Given the description of an element on the screen output the (x, y) to click on. 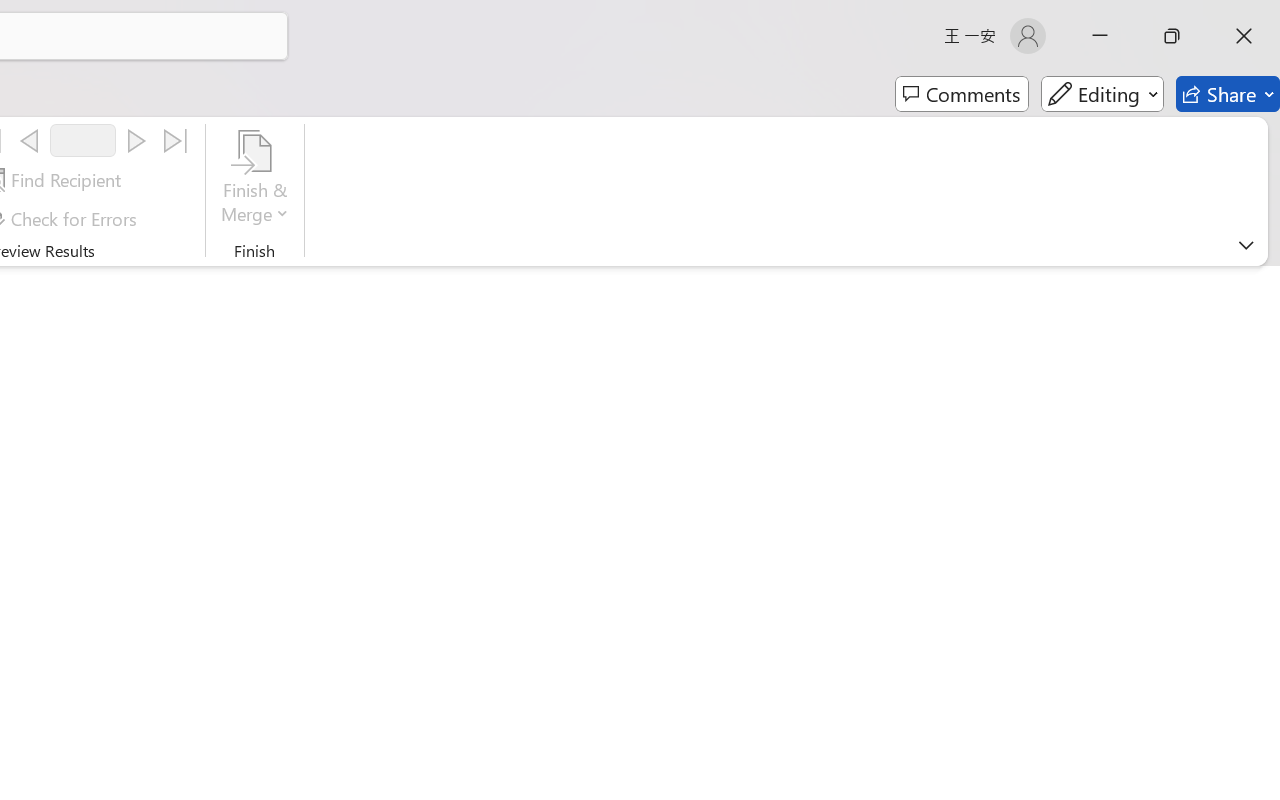
Close (1244, 36)
Share (1228, 94)
Ribbon Display Options (1246, 245)
Previous (29, 141)
Record (83, 140)
Last (175, 141)
Minimize (1099, 36)
Comments (961, 94)
Next (136, 141)
Editing (1101, 94)
Restore Down (1172, 36)
Finish & Merge (255, 179)
